Given the description of an element on the screen output the (x, y) to click on. 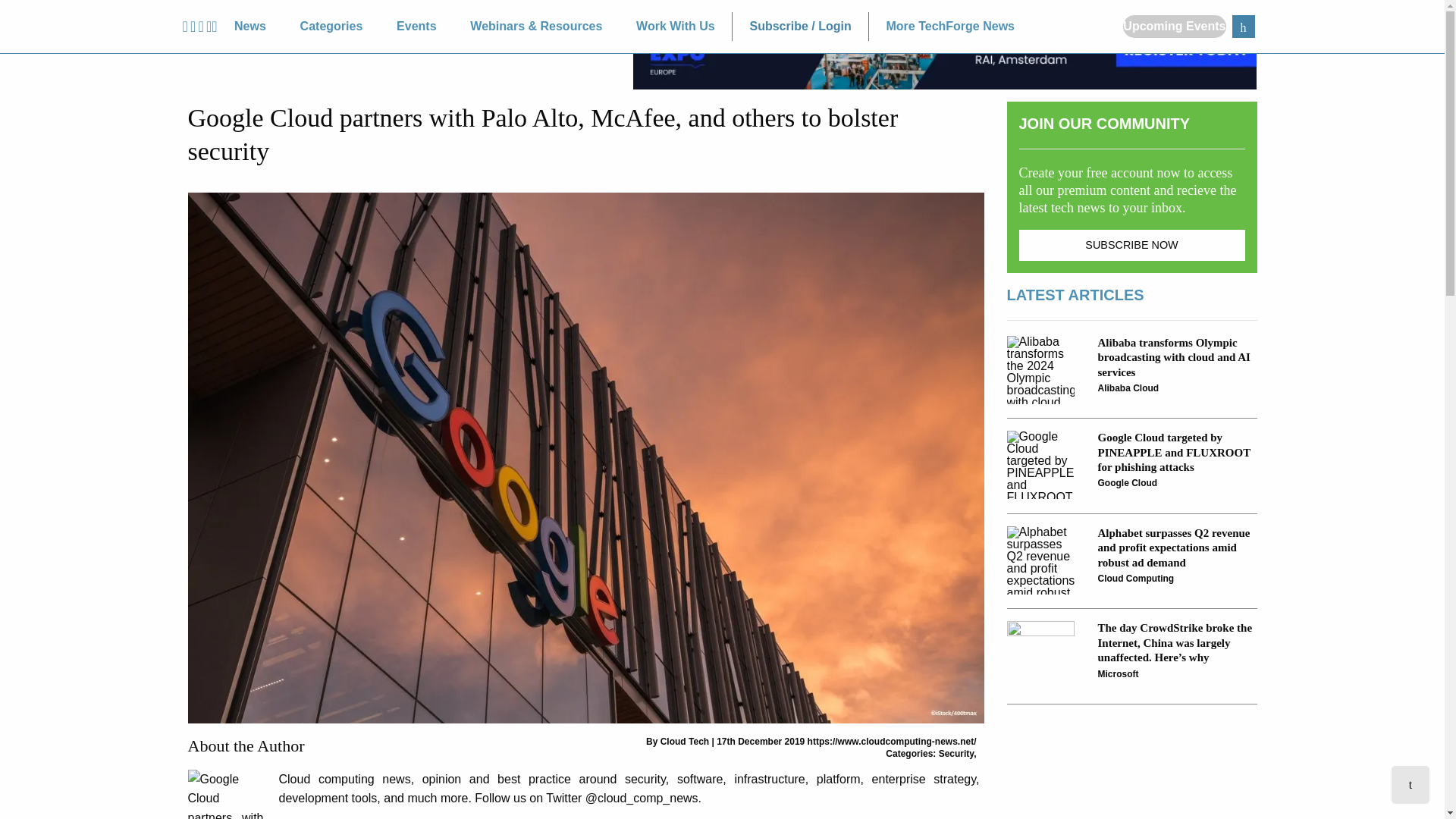
Categories (330, 26)
GO (1242, 26)
GO (1242, 26)
Posts by Cloud Tech (685, 741)
Search for: (1242, 26)
News (249, 26)
